Given the description of an element on the screen output the (x, y) to click on. 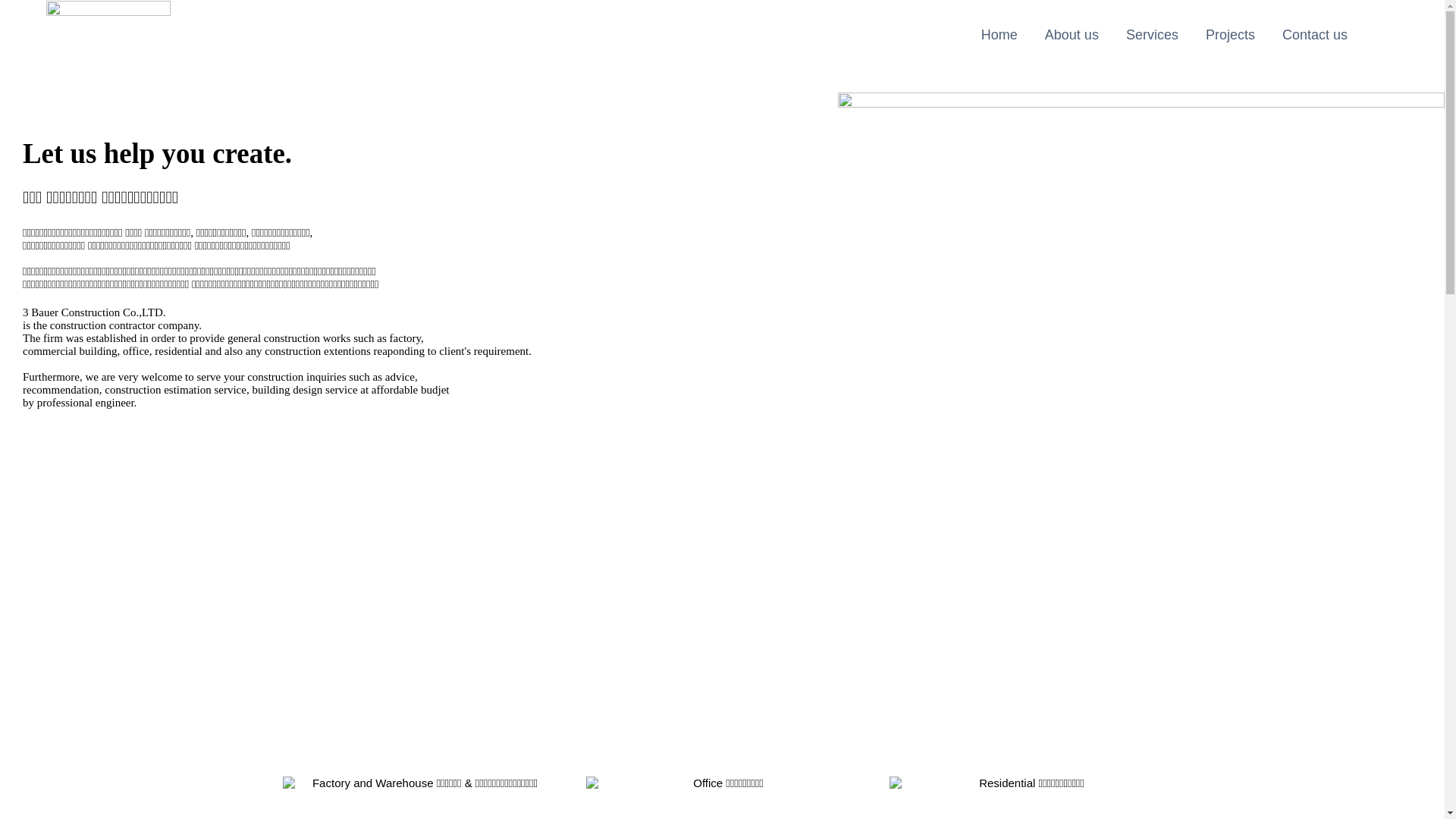
Home Element type: text (999, 34)
Services Element type: text (1152, 34)
About us Element type: text (1071, 34)
Projects Element type: text (1230, 34)
Contact us Element type: text (1314, 34)
